Given the description of an element on the screen output the (x, y) to click on. 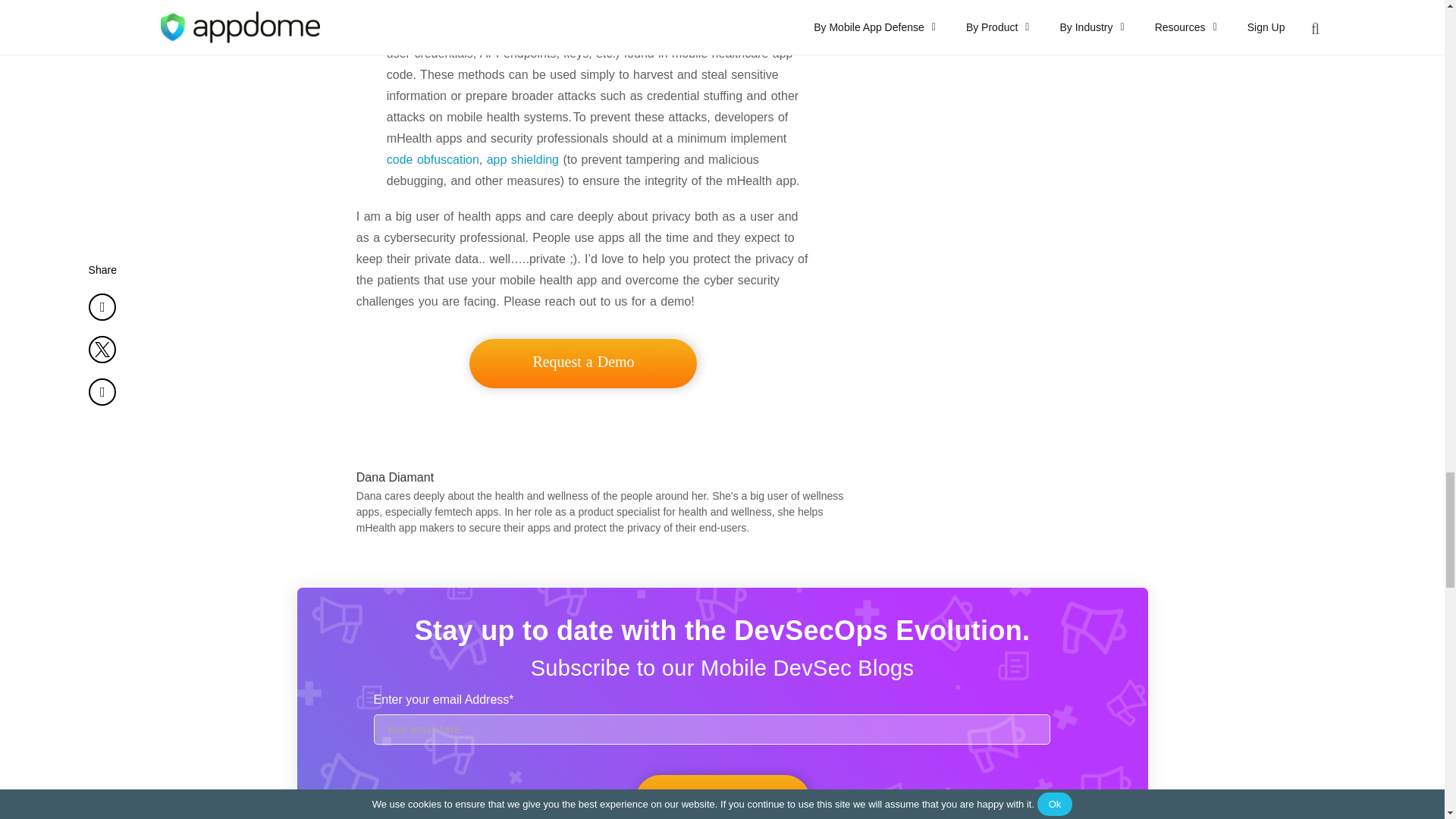
Subscribe Now (721, 796)
